Given the description of an element on the screen output the (x, y) to click on. 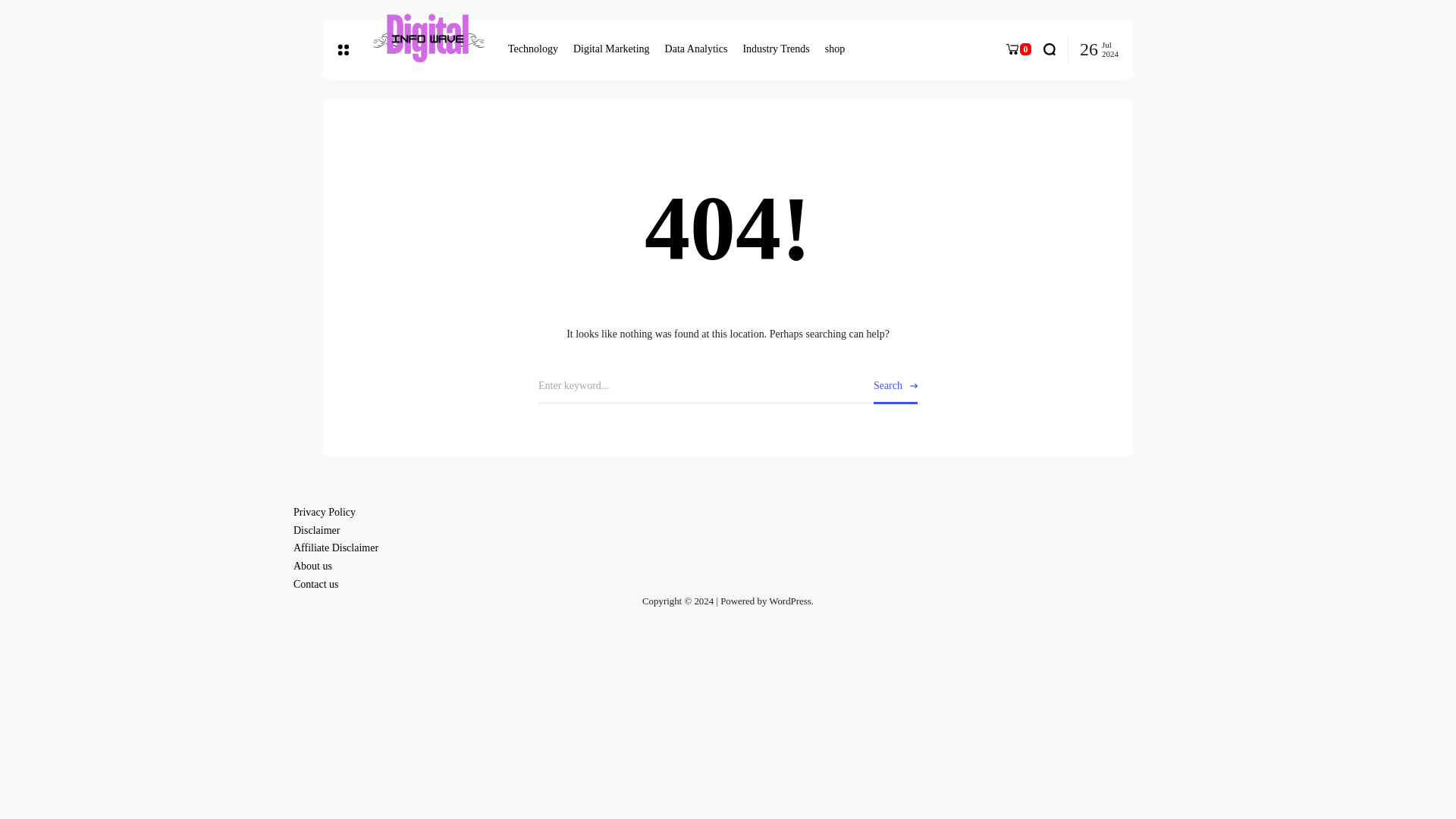
Privacy Policy (324, 511)
0 (1018, 49)
Contact us (316, 583)
Search (895, 387)
About us (312, 565)
Industry Trends (775, 48)
Digital Marketing (611, 48)
Disclaimer (316, 530)
Data Analytics (696, 48)
Cart (1018, 49)
Affiliate Disclaimer (336, 547)
